Given the description of an element on the screen output the (x, y) to click on. 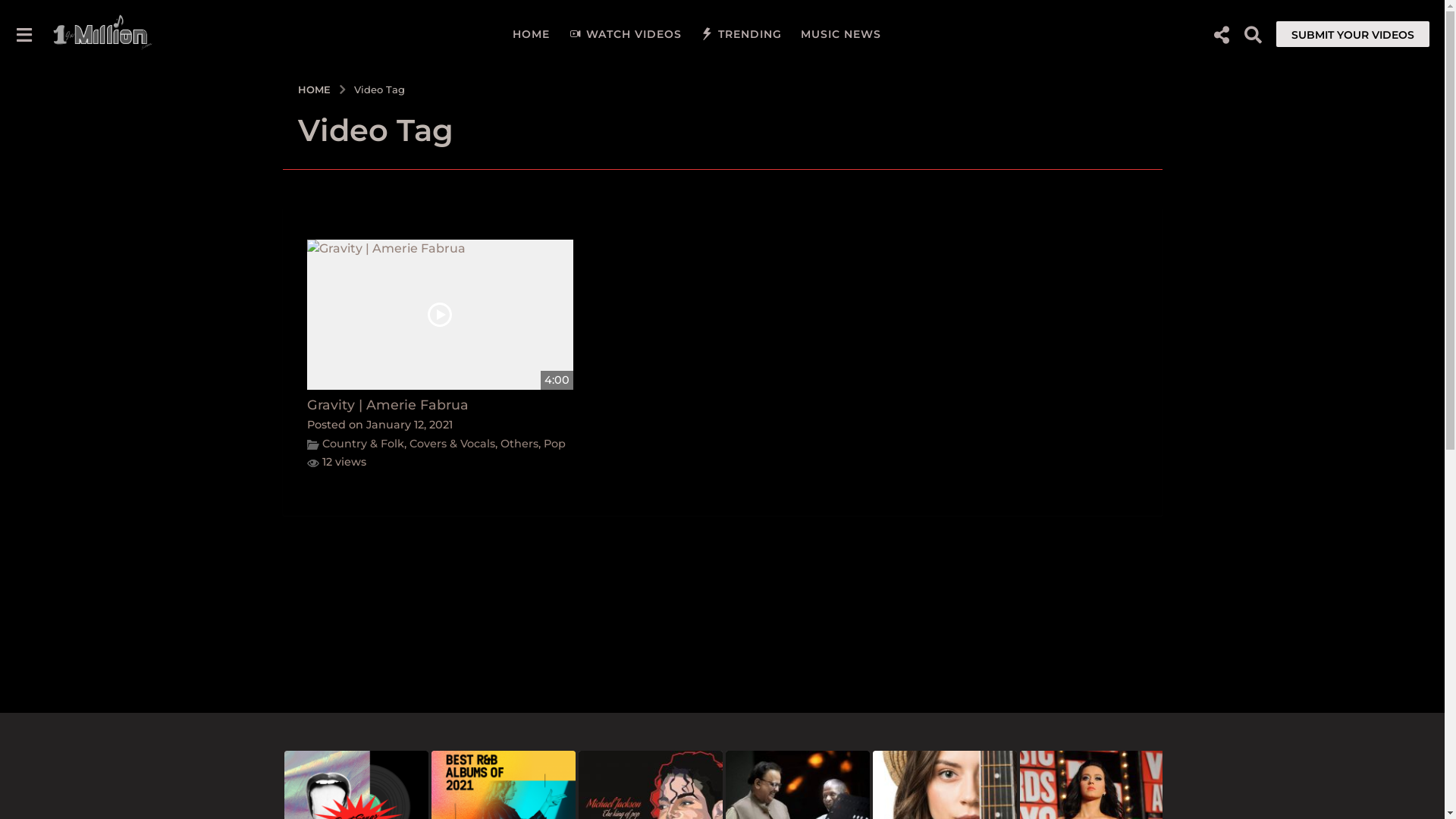
Gravity | Amerie Fabrua Element type: text (386, 404)
TRENDING Element type: text (740, 33)
HOME Element type: text (314, 88)
4:00 Element type: text (439, 314)
Others Element type: text (519, 443)
MUSIC NEWS Element type: text (840, 33)
Video Tag Element type: text (378, 88)
SUBMIT YOUR VIDEOS Element type: text (1352, 33)
Covers & Vocals Element type: text (452, 443)
WATCH VIDEOS Element type: text (624, 33)
Country & Folk Element type: text (362, 443)
HOME Element type: text (530, 33)
Pop Element type: text (553, 443)
